Given the description of an element on the screen output the (x, y) to click on. 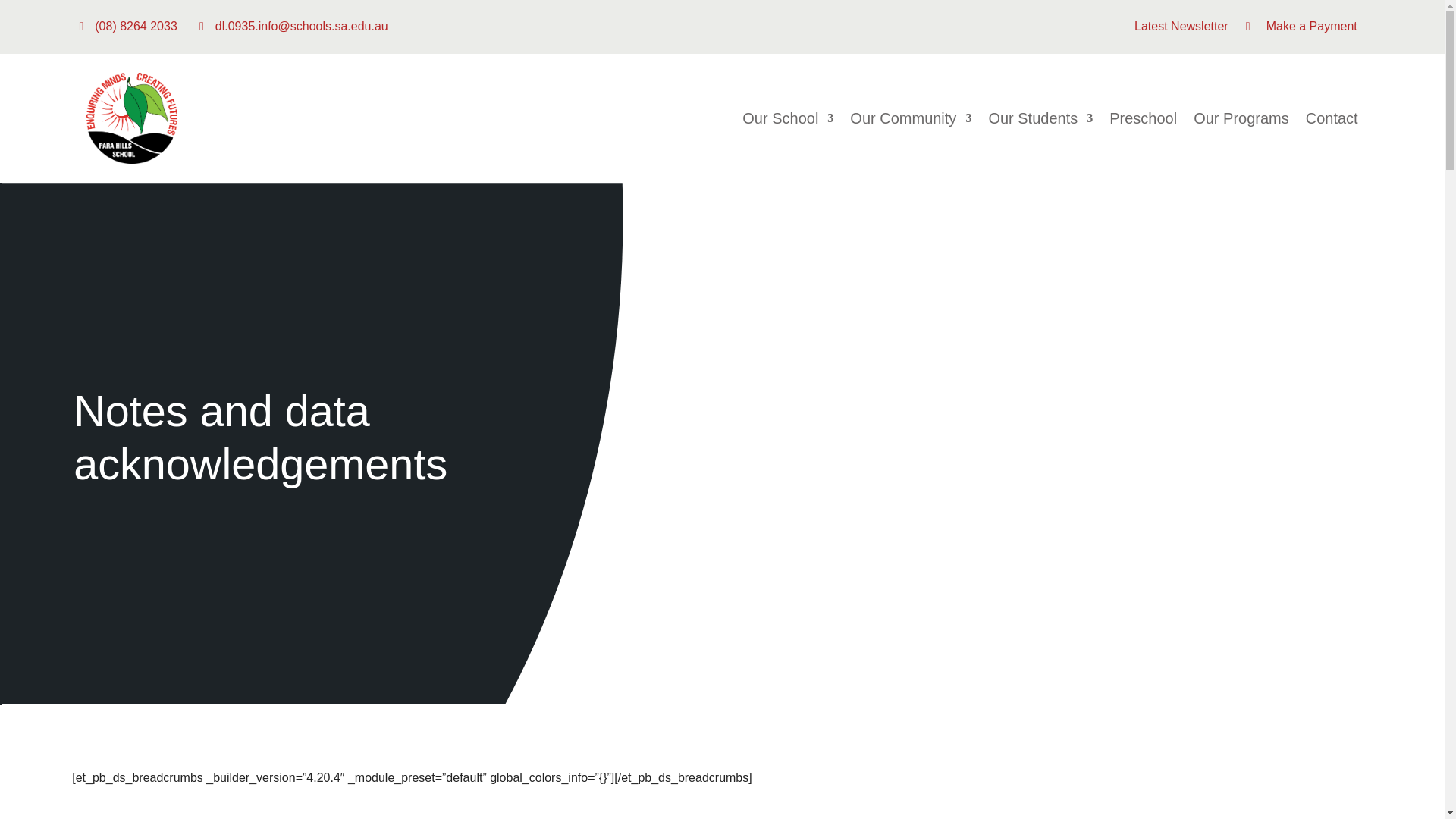
Our School (787, 117)
Our Community (910, 117)
Our Students (1040, 117)
Latest Newsletter (1181, 25)
Contact (1332, 117)
Preschool (1142, 117)
Make a Payment (1311, 25)
Our Programs (1240, 117)
